Given the description of an element on the screen output the (x, y) to click on. 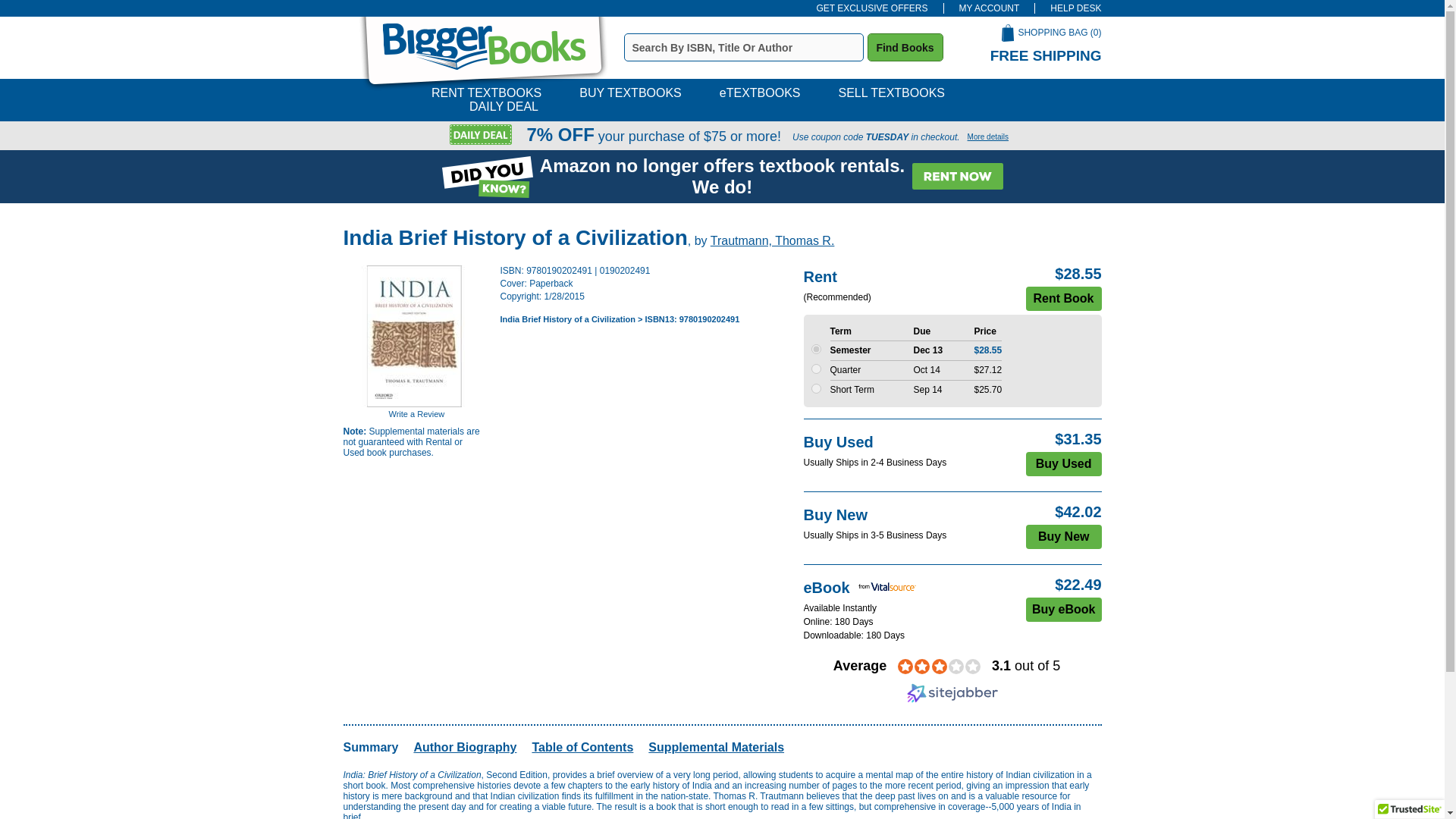
Rent Book (1062, 298)
Find Books (905, 47)
Buy eBook (1064, 609)
Find Books (905, 47)
India Brief History of a Civilization (567, 318)
Table of Contents (582, 747)
Buy New (1064, 536)
RENT TEXTBOOKS (485, 92)
Supplemental Materials (715, 747)
Summary (369, 747)
Buy Used (1064, 463)
3.1 out of 5 (1025, 665)
rt60days (815, 388)
HELP DESK (1067, 8)
